Given the description of an element on the screen output the (x, y) to click on. 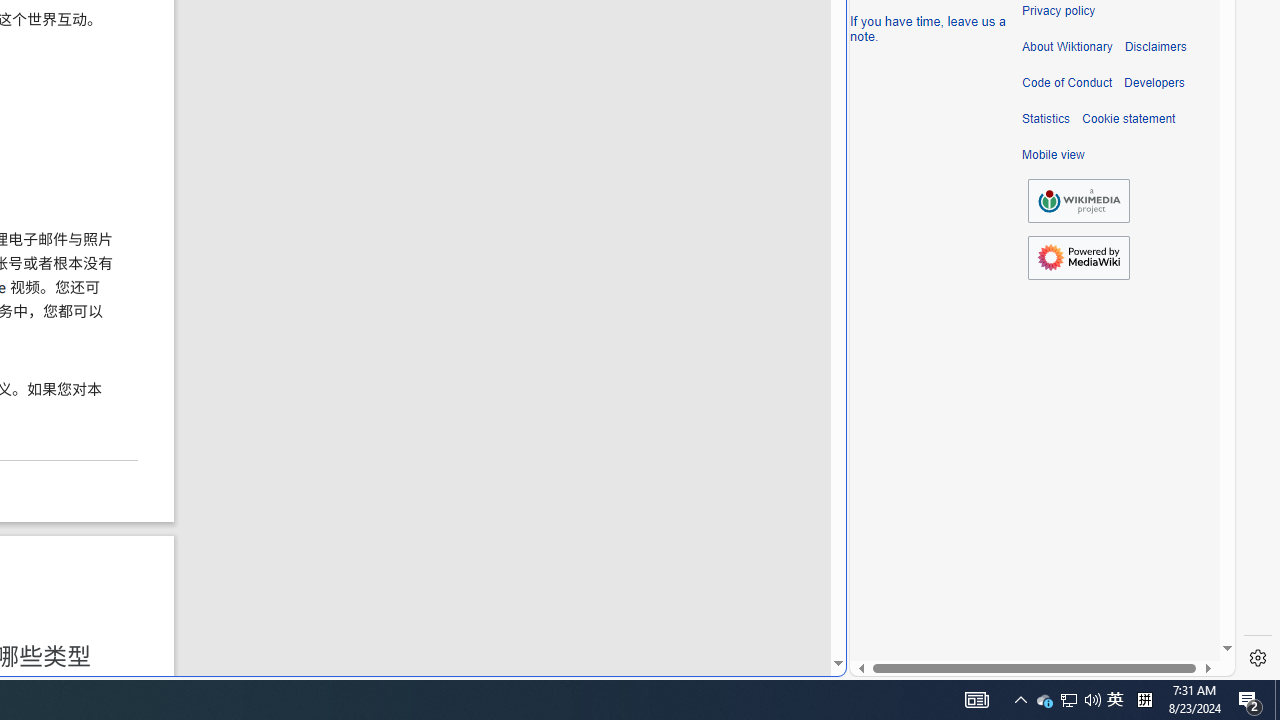
Mobile view (1053, 155)
MSN (687, 223)
Code of Conduct (1067, 83)
Cookie statement (1128, 119)
Disclaimers (1154, 47)
Statistics (1046, 119)
Developers (1154, 83)
Global web icon (888, 663)
Developers (1154, 83)
Cookie statement (1128, 119)
Code of Conduct (1067, 83)
